Given the description of an element on the screen output the (x, y) to click on. 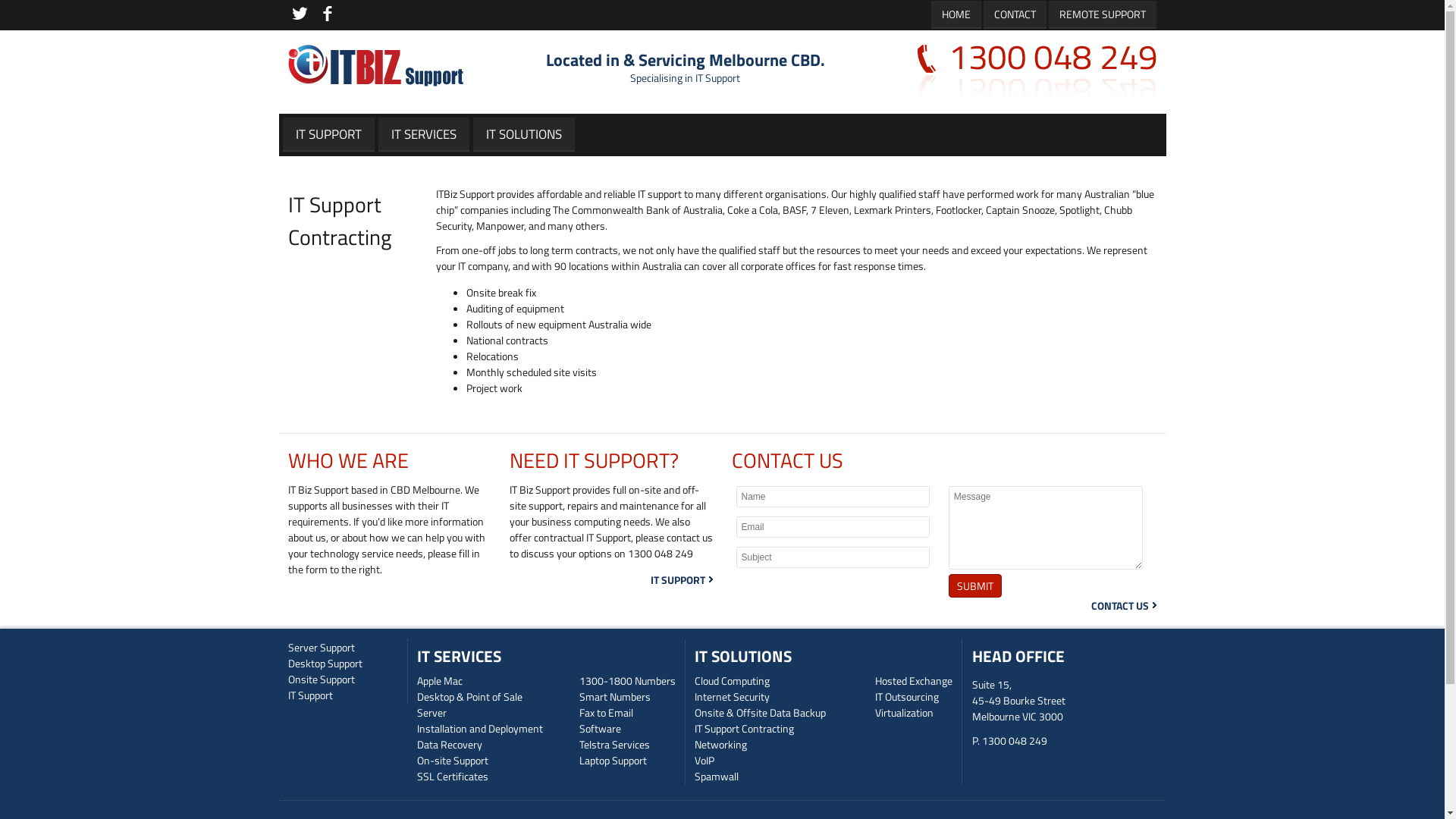
REMOTE SUPPORT Element type: text (1102, 13)
CONTACT Element type: text (1014, 13)
IT SERVICES Element type: text (459, 655)
WHO WE ARE Element type: text (348, 460)
Follow us on Facebook Element type: hover (326, 13)
IT SOLUTIONS Element type: text (742, 655)
Follow us on Twitter Element type: hover (299, 13)
CONTACT US Element type: text (787, 460)
SUBMIT Element type: text (974, 585)
HOME Element type: text (955, 13)
HEAD OFFICE Element type: text (1018, 655)
NEED IT SUPPORT? Element type: text (593, 460)
